Given the description of an element on the screen output the (x, y) to click on. 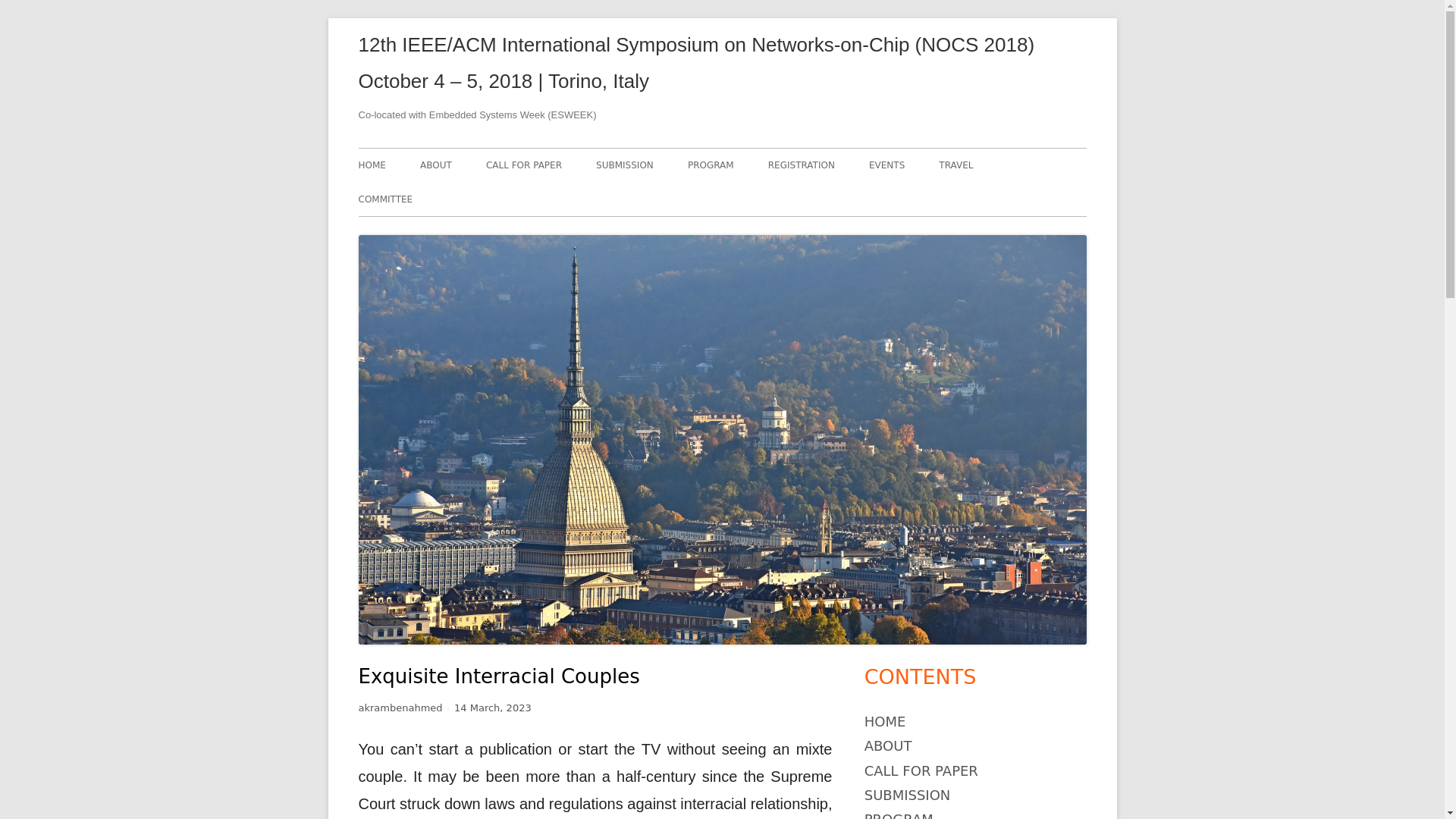
SUBMISSION (624, 164)
HOME (884, 721)
REGISTRATION (801, 164)
PROGRAM (710, 164)
ABOUT (888, 745)
akrambenahmed (400, 707)
CALL FOR PAPER (921, 770)
COMMITTEE (385, 199)
SUBMISSION (907, 795)
CALL FOR PAPER (524, 164)
